Given the description of an element on the screen output the (x, y) to click on. 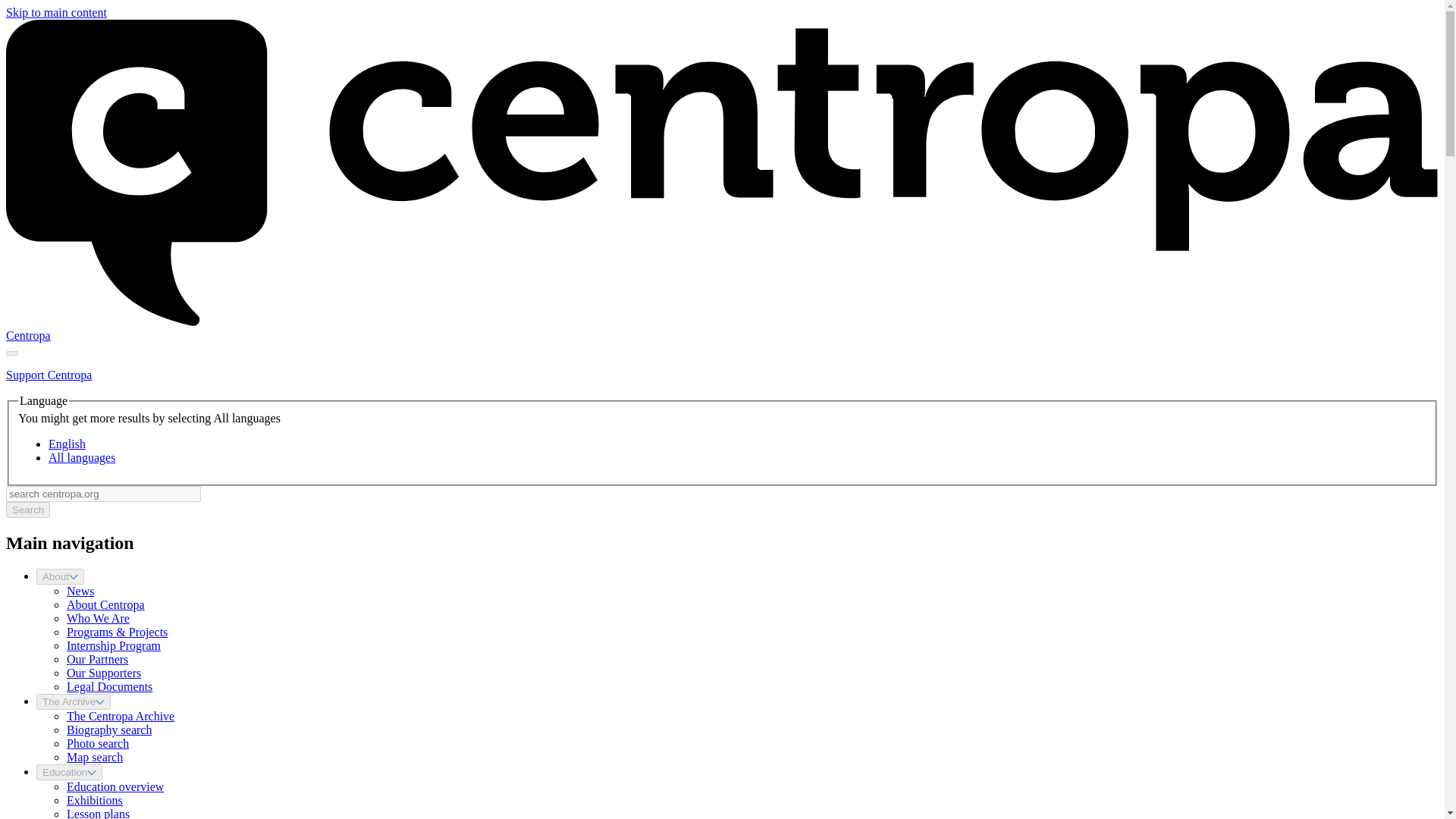
Search (27, 509)
The Centropa Archive (120, 716)
Map search (94, 757)
The Archive (73, 701)
Biography search (108, 729)
Centropa (27, 335)
Support Centropa (48, 374)
Education overview (114, 786)
Exhibitions (94, 799)
Our Supporters (103, 672)
Support Centropa (48, 374)
English (66, 443)
Skip to main content (55, 11)
News (80, 590)
Our Partners (97, 658)
